Given the description of an element on the screen output the (x, y) to click on. 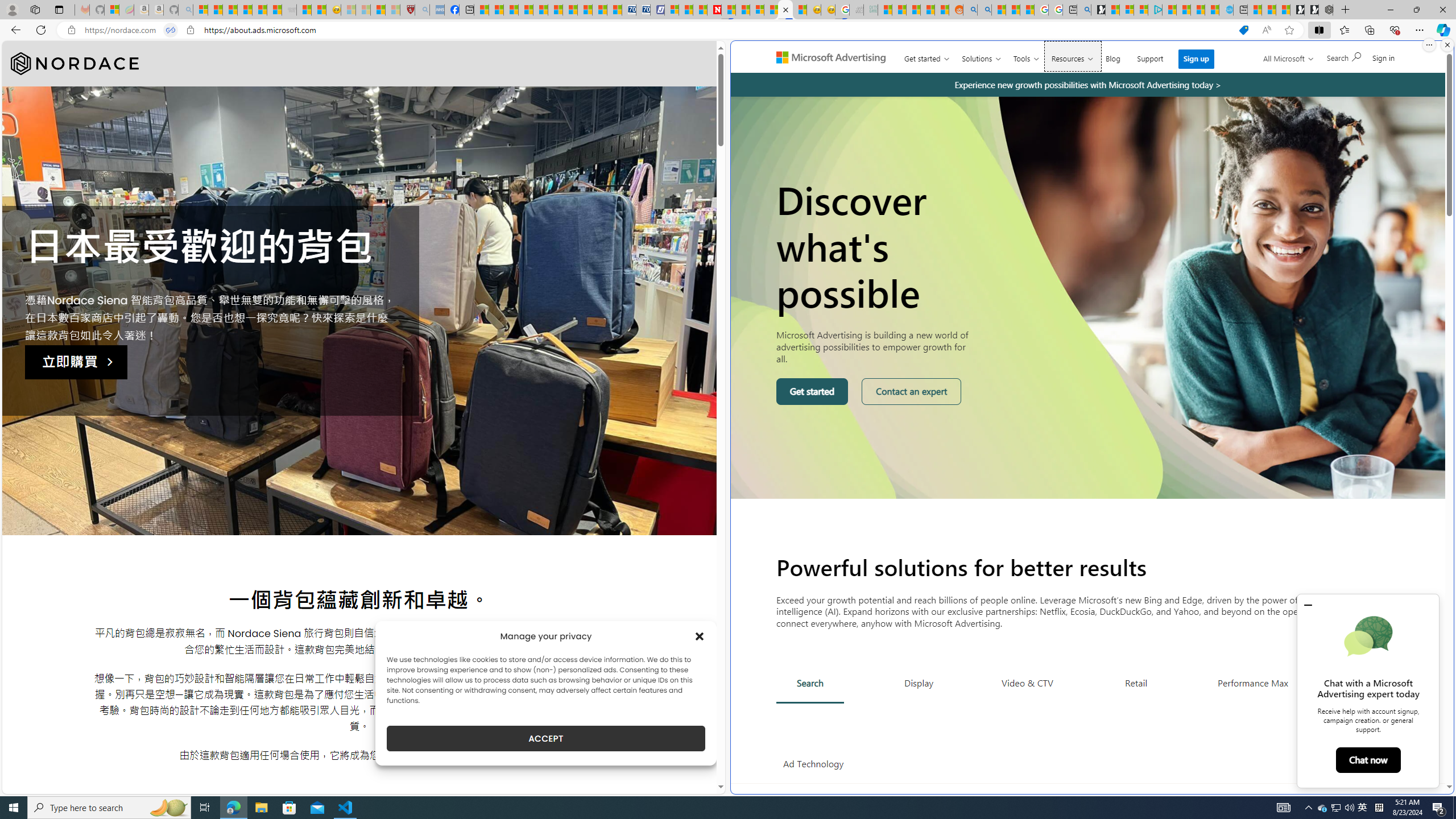
Sign up (1195, 59)
A smiling woman looking into the horizon. (1087, 297)
14 Common Myths Debunked By Scientific Facts (742, 9)
Sign up (1195, 58)
Chat now (1367, 759)
No, thanks (1277, 62)
